Given the description of an element on the screen output the (x, y) to click on. 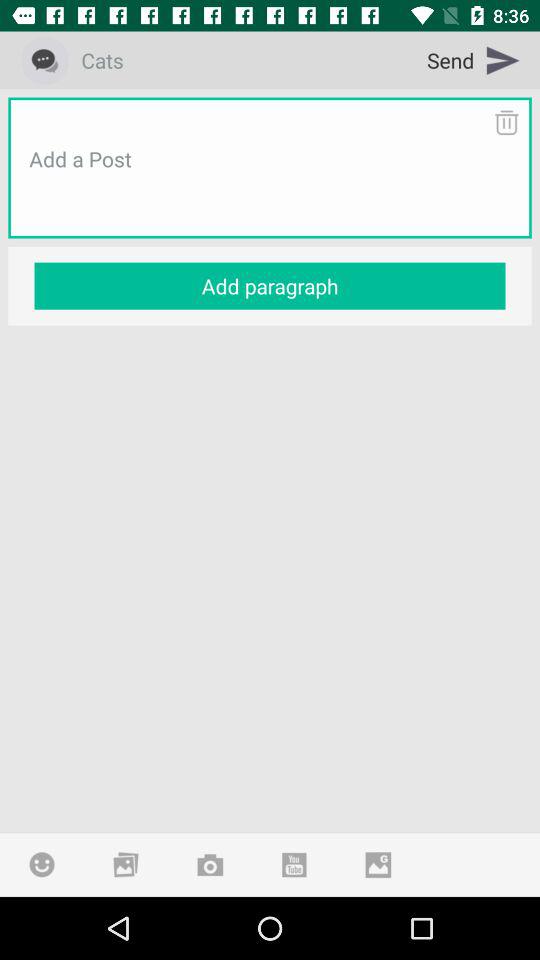
click the add paragraph (269, 285)
